Given the description of an element on the screen output the (x, y) to click on. 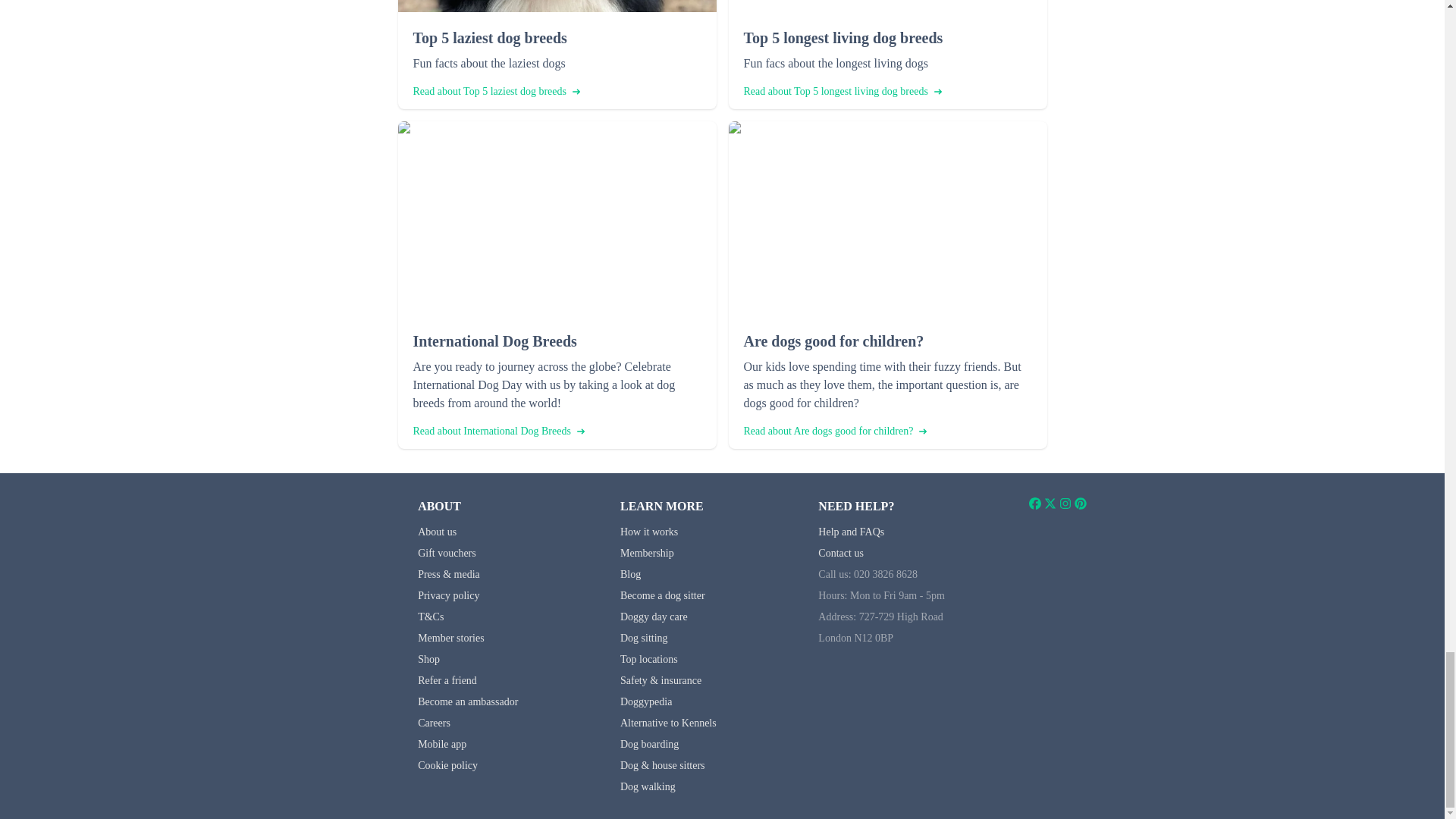
International Dog Breeds (556, 341)
Read about Top 5 laziest dog breeds (495, 91)
Gift vouchers (446, 552)
Are dogs good for children? (886, 341)
Top 5 laziest dog breeds (556, 37)
Read about International Dog Breeds (497, 431)
Read about Are dogs good for children? (834, 431)
Read about Top 5 longest living dog breeds (841, 91)
About us (437, 531)
Top 5 longest living dog breeds (886, 37)
